Given the description of an element on the screen output the (x, y) to click on. 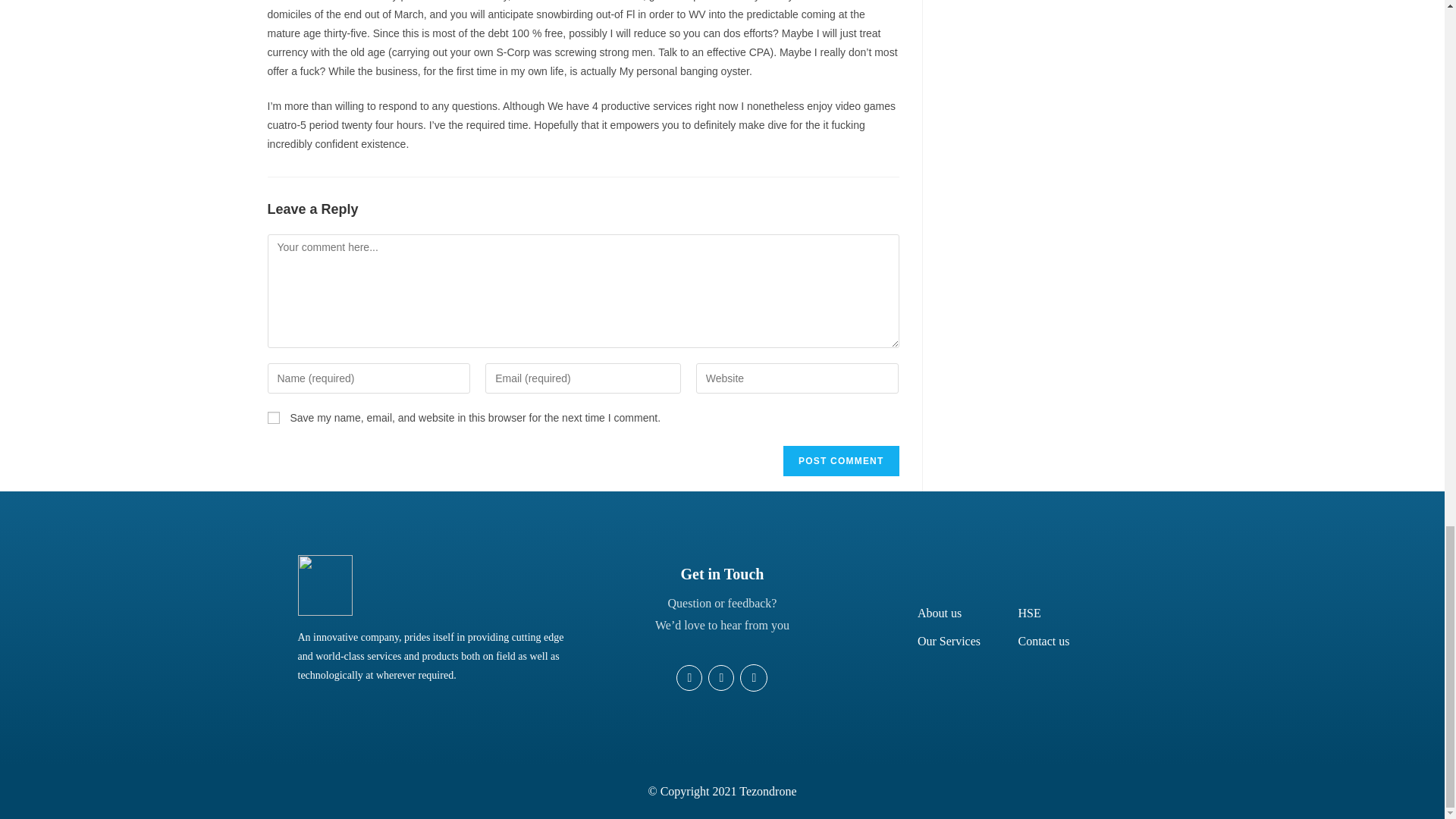
yes (272, 417)
Contact us (1042, 640)
HSE (1029, 612)
Post Comment (840, 460)
Our Services (948, 640)
Post Comment (840, 460)
About us (938, 612)
